Given the description of an element on the screen output the (x, y) to click on. 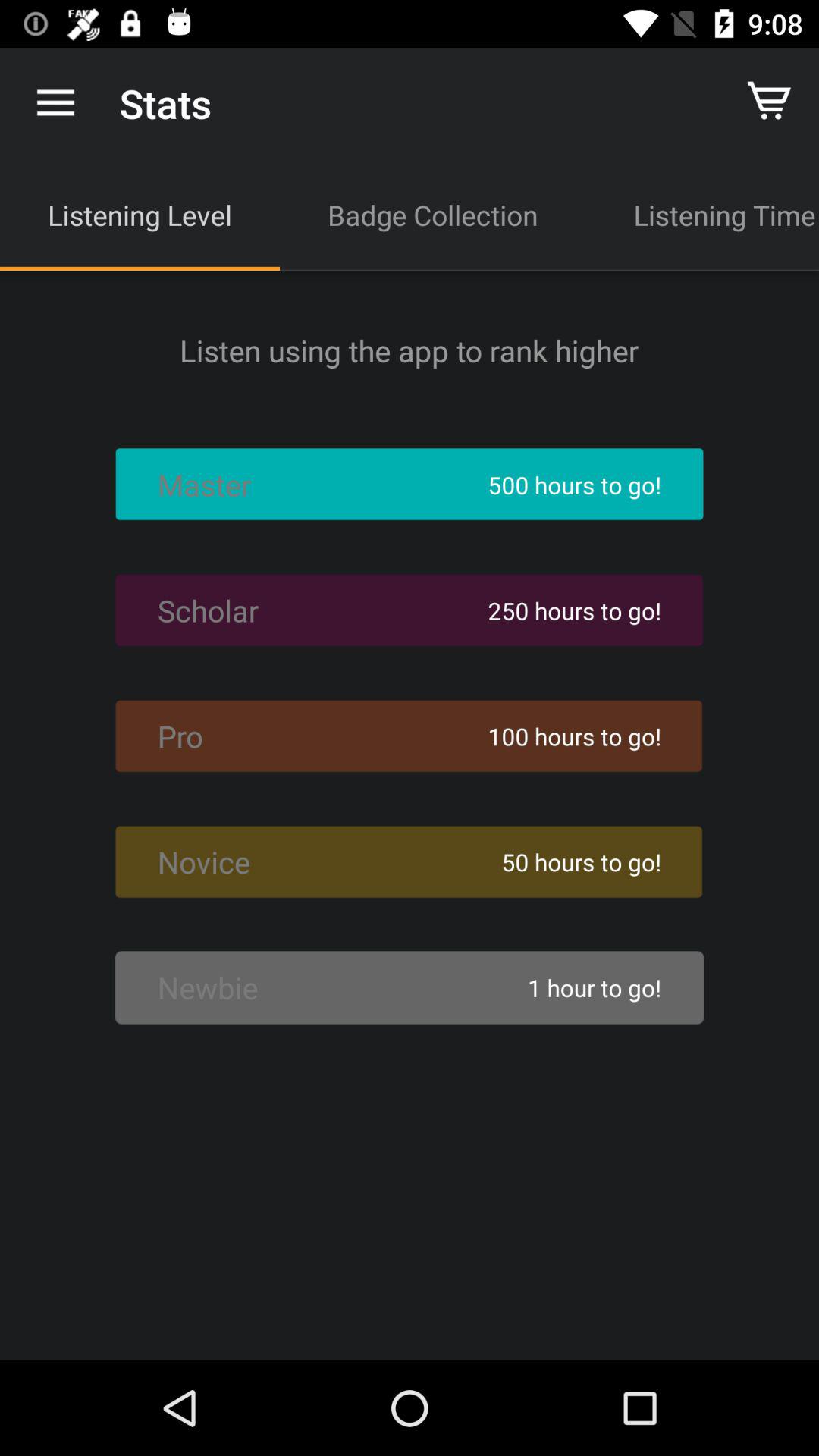
turn off app above the listening time app (771, 103)
